Given the description of an element on the screen output the (x, y) to click on. 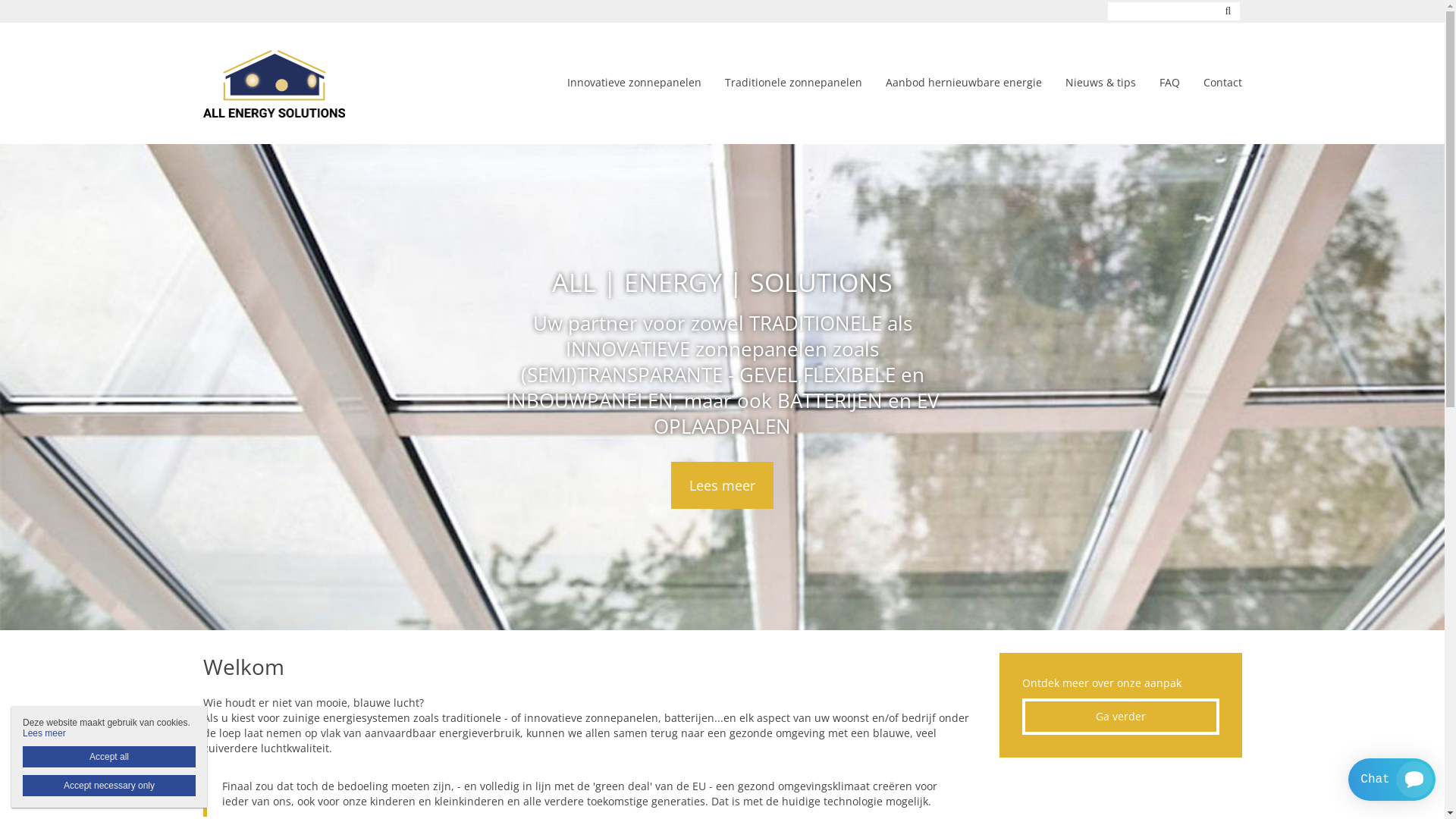
Accept all Element type: text (108, 756)
Aanbod hernieuwbare energie Element type: text (963, 83)
Smartsupp widget button Element type: hover (1391, 779)
FAQ Element type: text (1168, 83)
Overslaan en naar de inhoud gaan Element type: text (81, 0)
Zoeken Element type: text (1227, 11)
Accept necessary only Element type: text (108, 785)
Home | AES Sales | ALL ENERGY SOLUTIONS Element type: hover (297, 83)
Home | AES Sales | ALL ENERGY SOLUTIONS Element type: hover (274, 83)
Traditionele zonnepanelen Element type: text (793, 83)
Nieuws & tips Element type: text (1099, 83)
Lees meer Element type: text (43, 733)
Contact Element type: text (1221, 83)
Innovatieve zonnepanelen Element type: text (634, 83)
Lees meer Element type: text (722, 484)
Ga verder Element type: text (1120, 716)
